Given the description of an element on the screen output the (x, y) to click on. 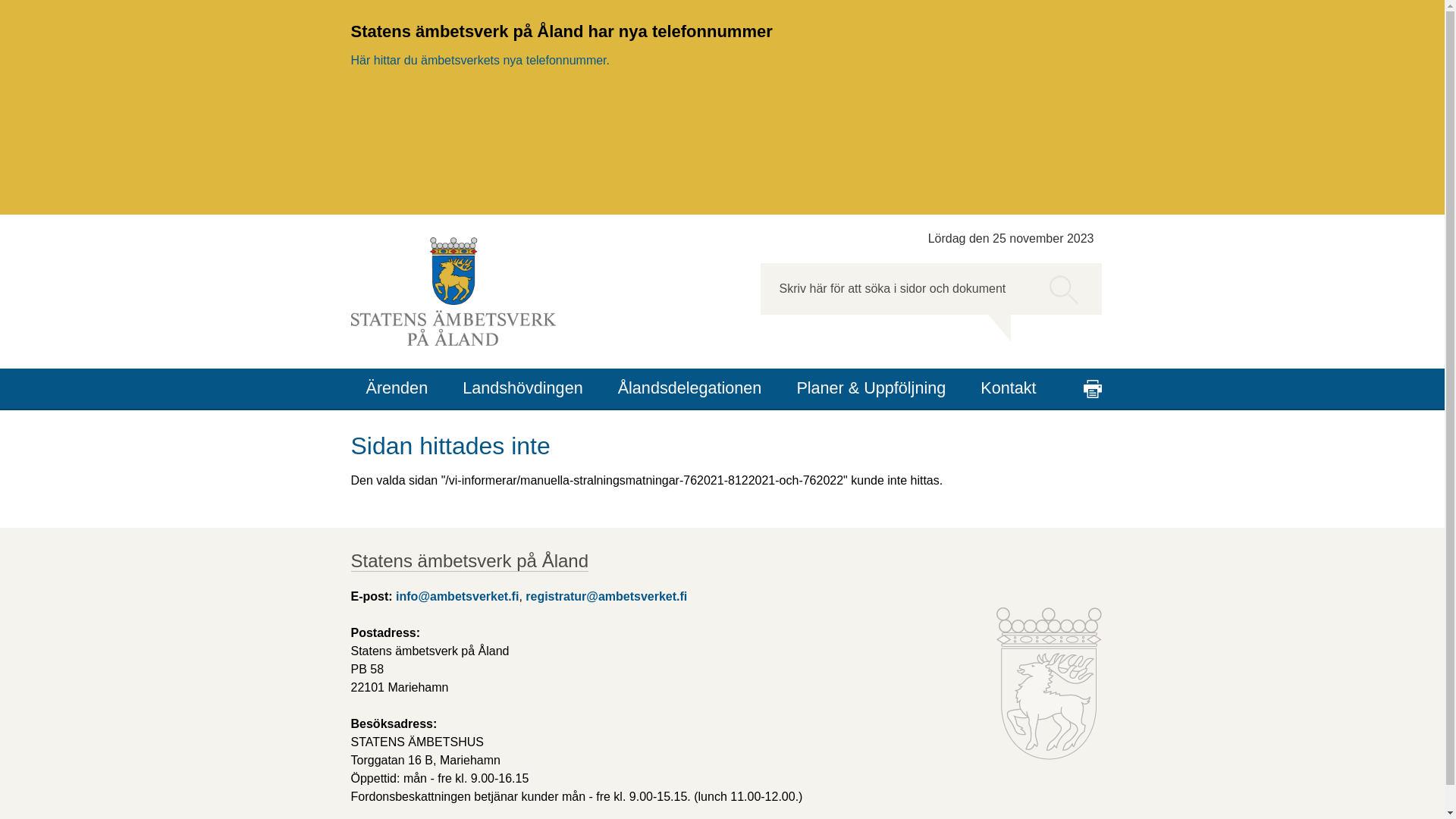
Kontakt Element type: text (1008, 387)
Skriv ut sidan Element type: hover (1091, 388)
info@ambetsverket.fi Element type: text (456, 596)
registratur@ambetsverket.fi Element type: text (606, 596)
